Given the description of an element on the screen output the (x, y) to click on. 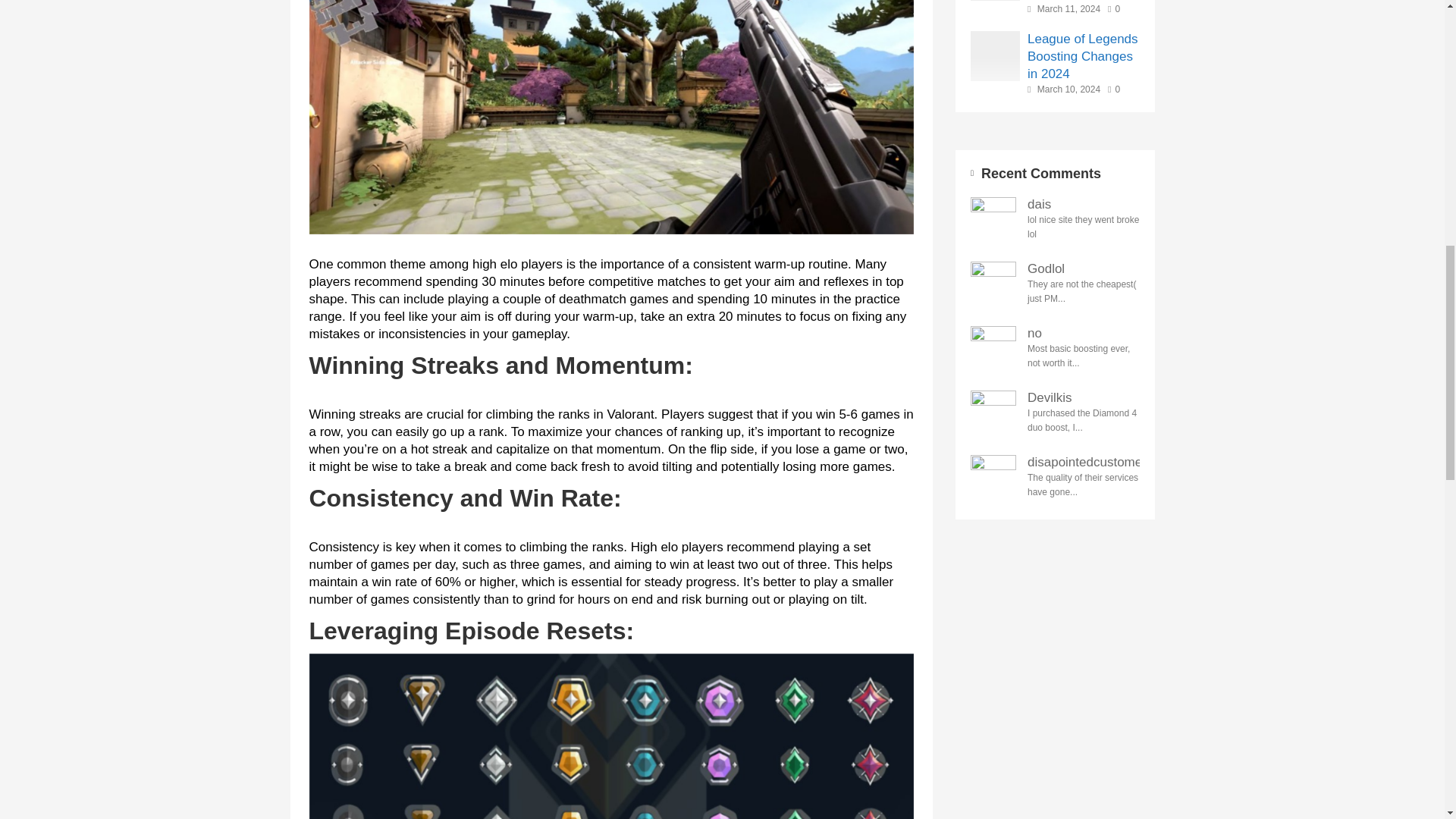
Most basic boosting ever, not worth it... (1083, 356)
The quality of their services have gone... (1083, 484)
I purchased the Diamond 4 duo boost, I... (1083, 420)
lol nice site they went broke lol (1083, 226)
League of Legends Boosting Changes in 2024 (1083, 56)
